Given the description of an element on the screen output the (x, y) to click on. 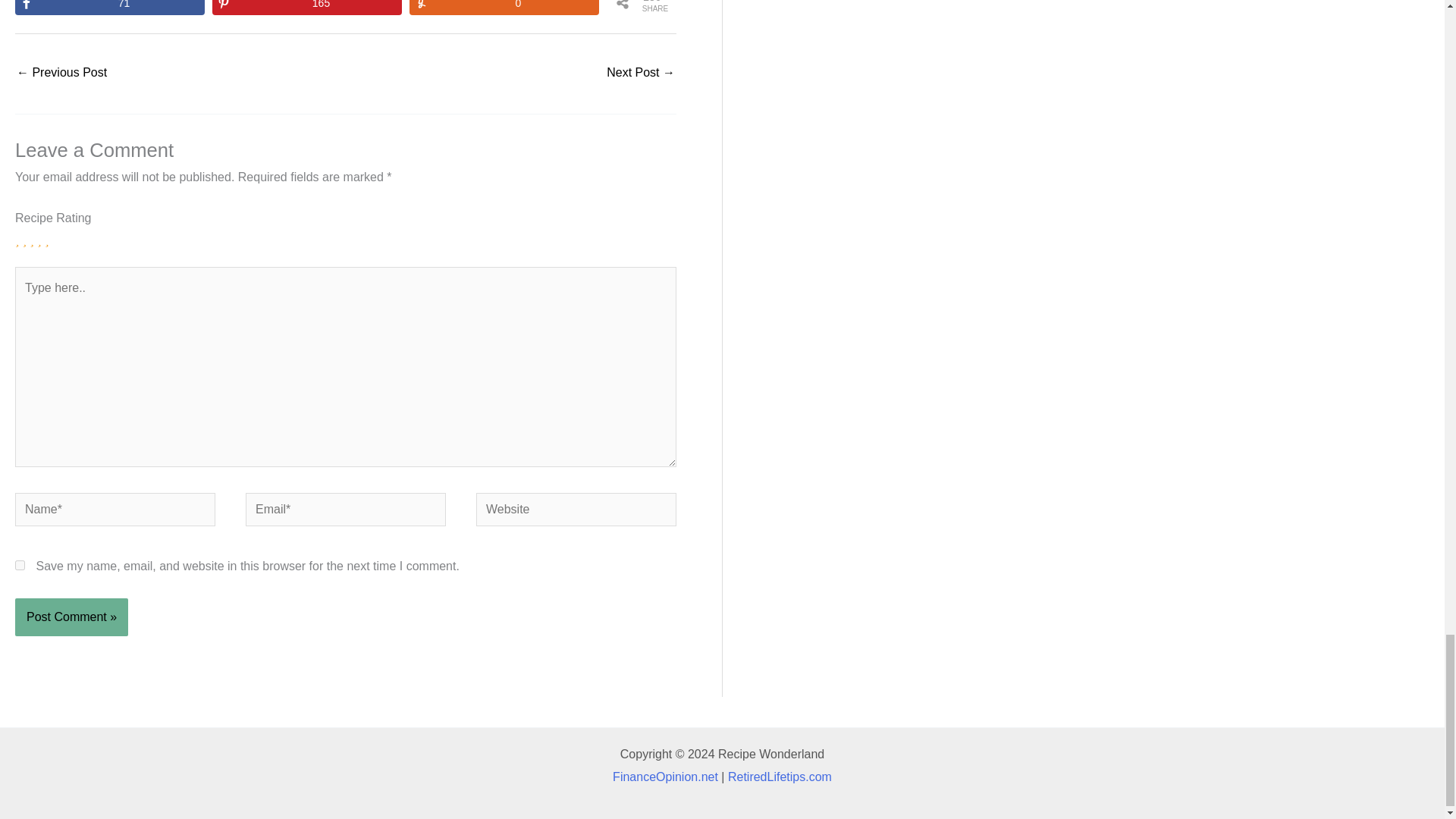
Poor quality (24, 239)
Share on Yummly (503, 7)
yes (19, 565)
Share on Pinterest (306, 7)
Homemade Cinnamon Applesauce (61, 73)
Excellent! (46, 239)
Share on Facebook (109, 7)
Average (31, 239)
Good (38, 239)
Not at all useful (16, 239)
Fudge Brownies (641, 73)
